Given the description of an element on the screen output the (x, y) to click on. 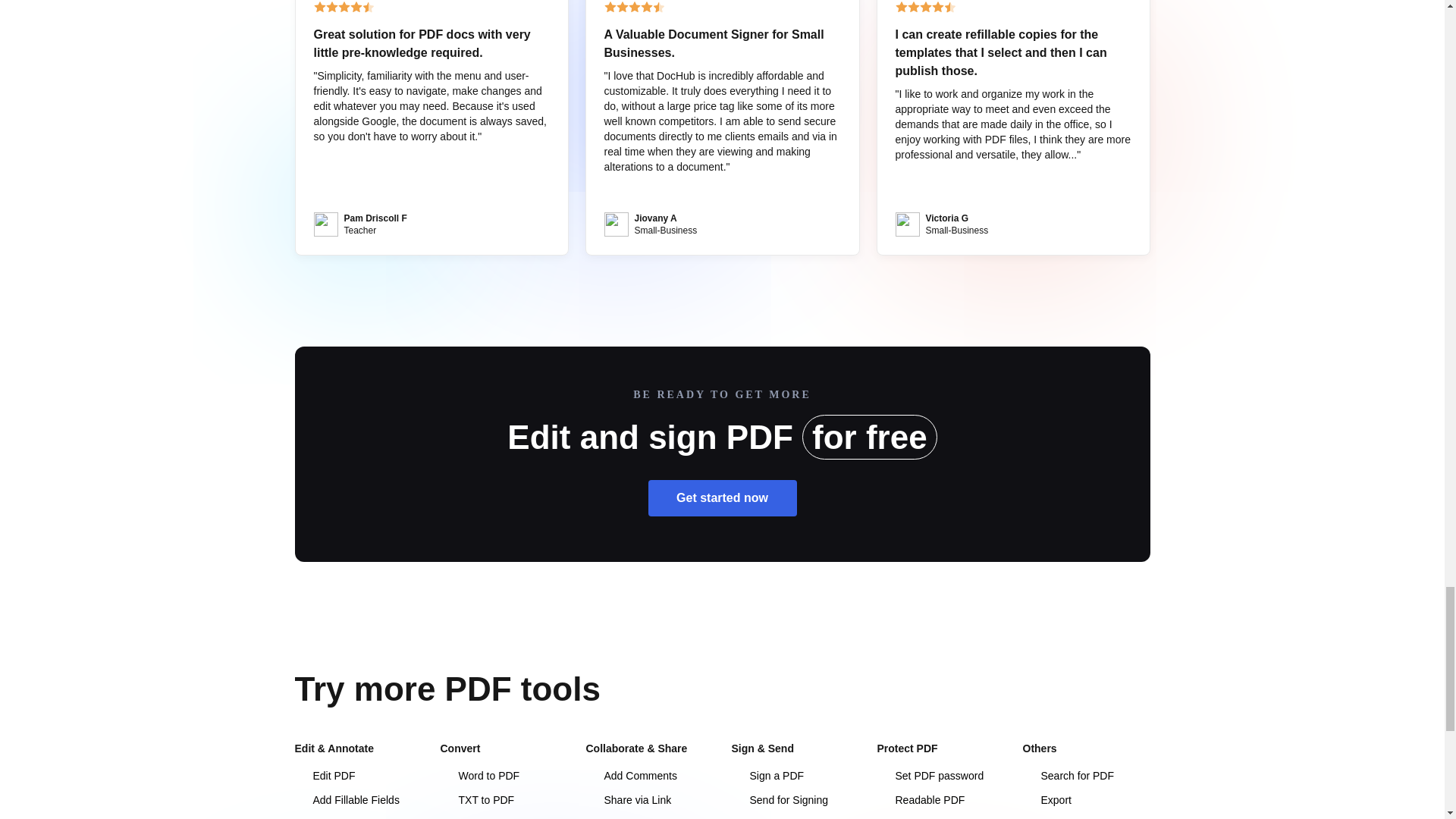
Add Comments (631, 775)
TXT to PDF (476, 799)
Sign a PDF (766, 775)
Add Fillable Fields (346, 799)
Share via Link (628, 799)
Get started now (721, 497)
Word to PDF (479, 775)
Edit PDF (324, 775)
